Given the description of an element on the screen output the (x, y) to click on. 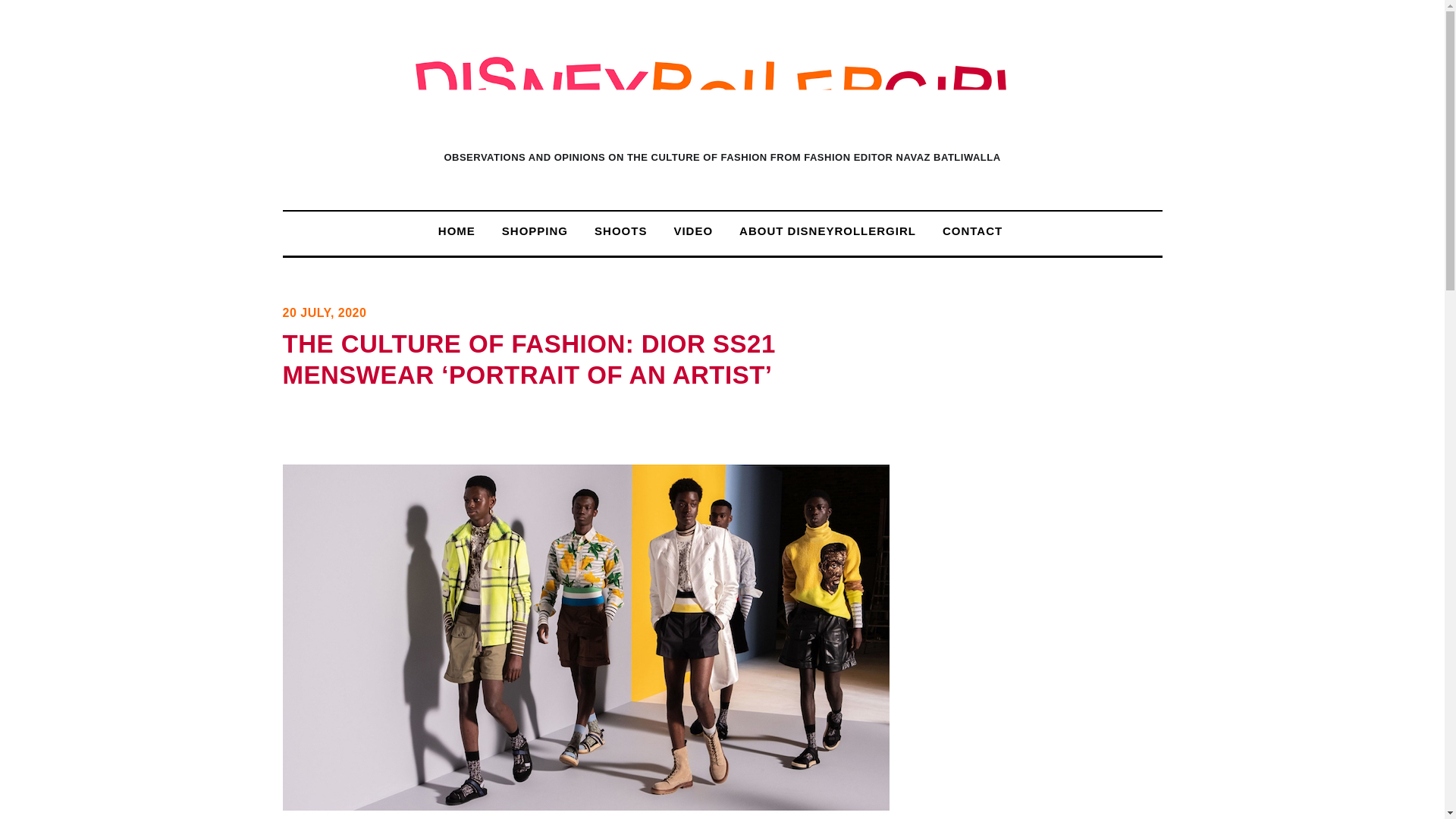
VIDEO (692, 230)
HOME (456, 230)
DisneyRollerGirl (721, 115)
CONTACT (972, 230)
DisneyRollerGirl (721, 92)
ABOUT DISNEYROLLERGIRL (827, 230)
SHOPPING (534, 230)
SHOOTS (620, 230)
